Given the description of an element on the screen output the (x, y) to click on. 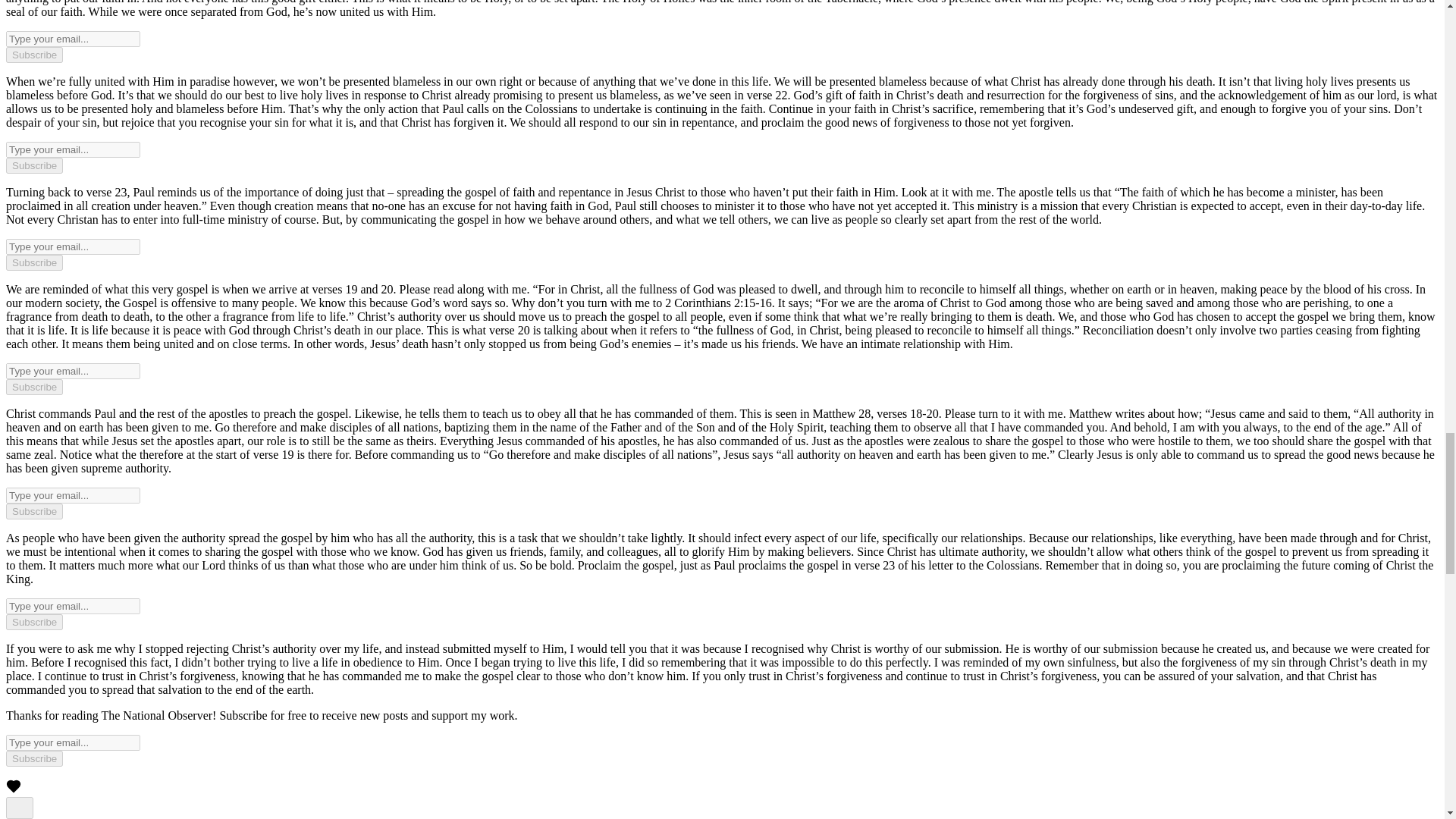
Subscribe (33, 165)
Subscribe (33, 511)
Subscribe (33, 758)
Subscribe (33, 621)
Subscribe (33, 54)
Subscribe (33, 262)
Subscribe (33, 386)
